Given the description of an element on the screen output the (x, y) to click on. 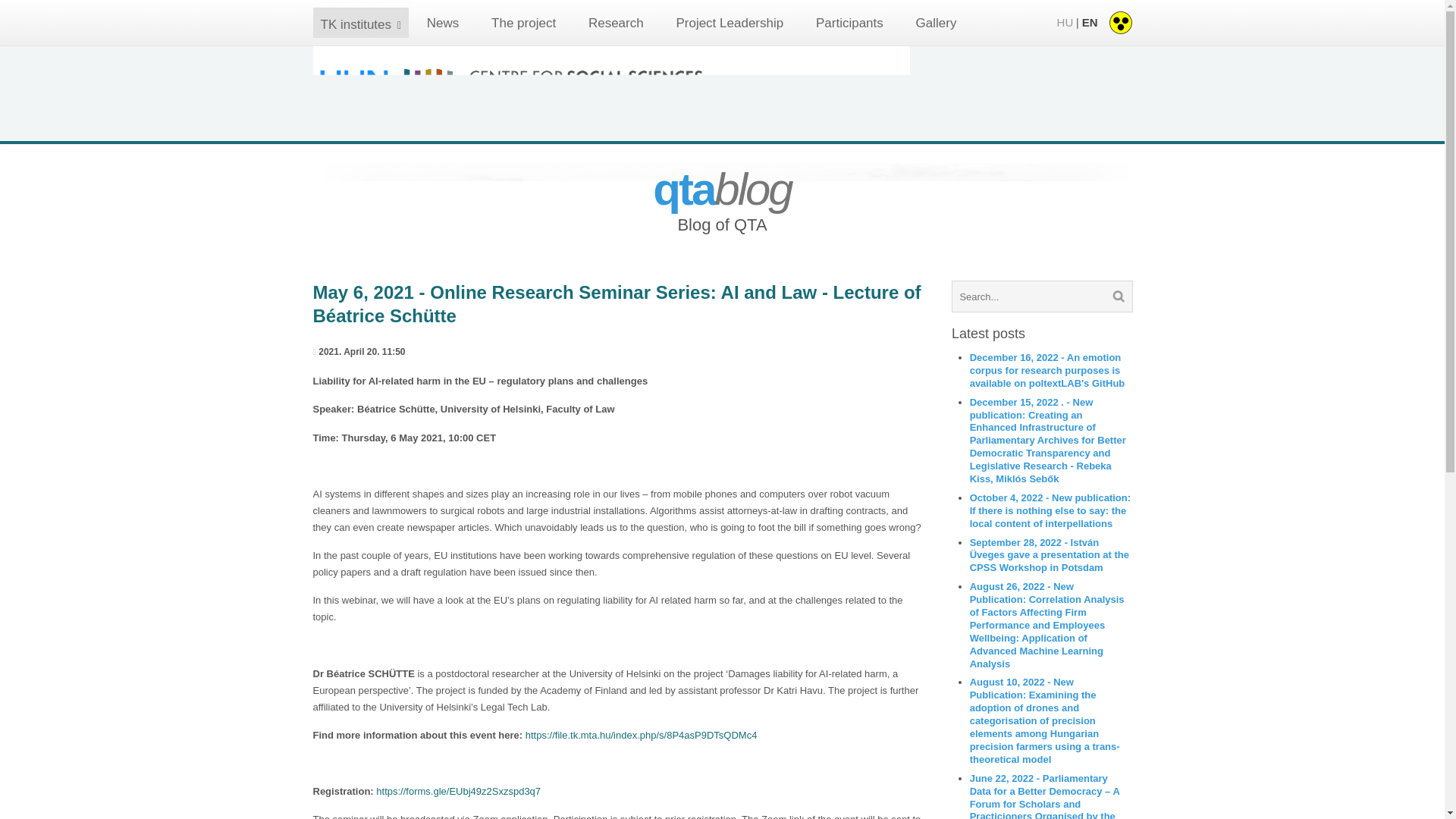
Participants (849, 22)
Project Leadership (729, 22)
Research (615, 22)
TK institutes (355, 24)
Gallery (935, 22)
The project (524, 22)
